Given the description of an element on the screen output the (x, y) to click on. 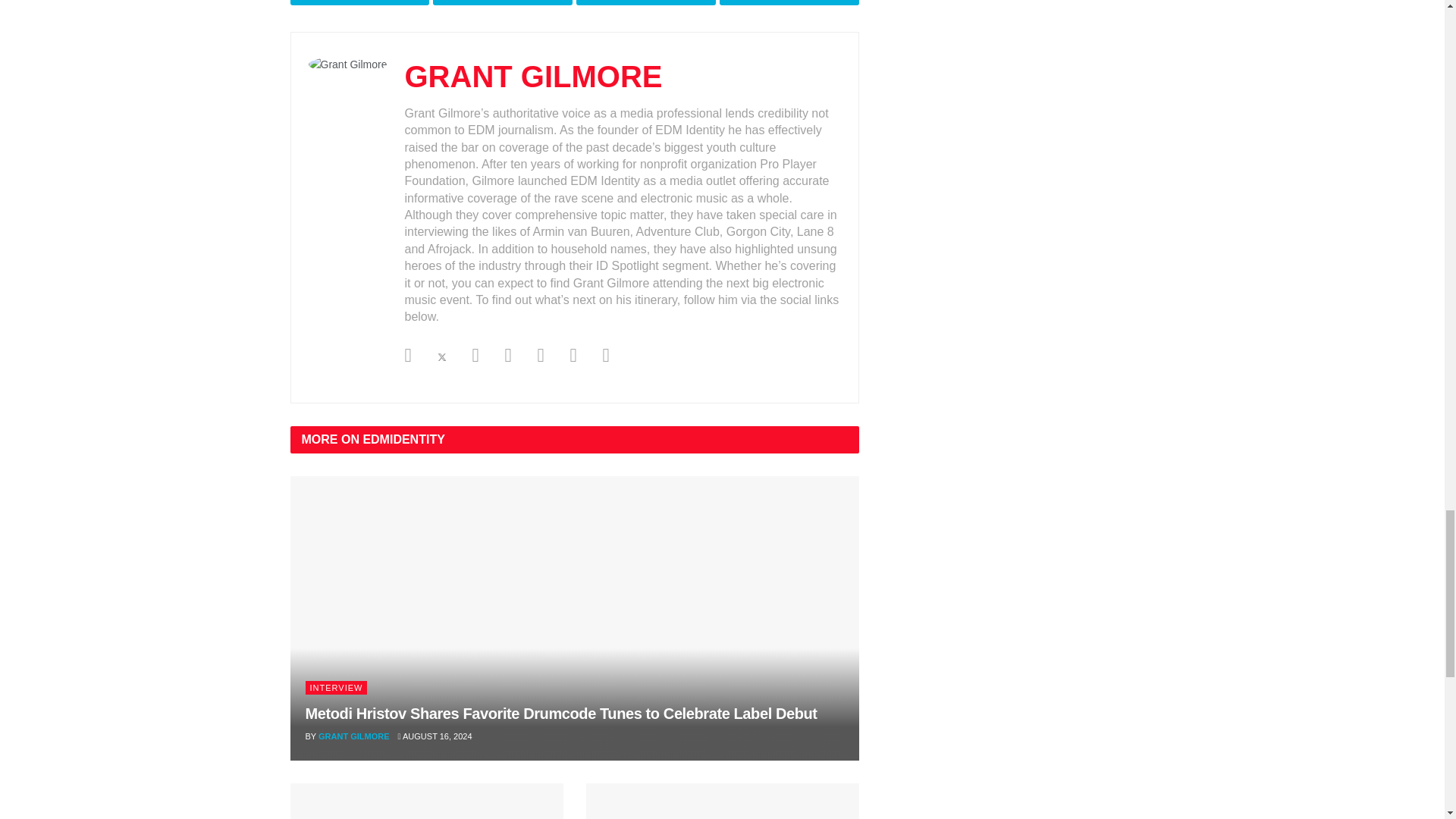
Share (359, 2)
Share (646, 2)
Share (789, 2)
Tweet (502, 2)
